Given the description of an element on the screen output the (x, y) to click on. 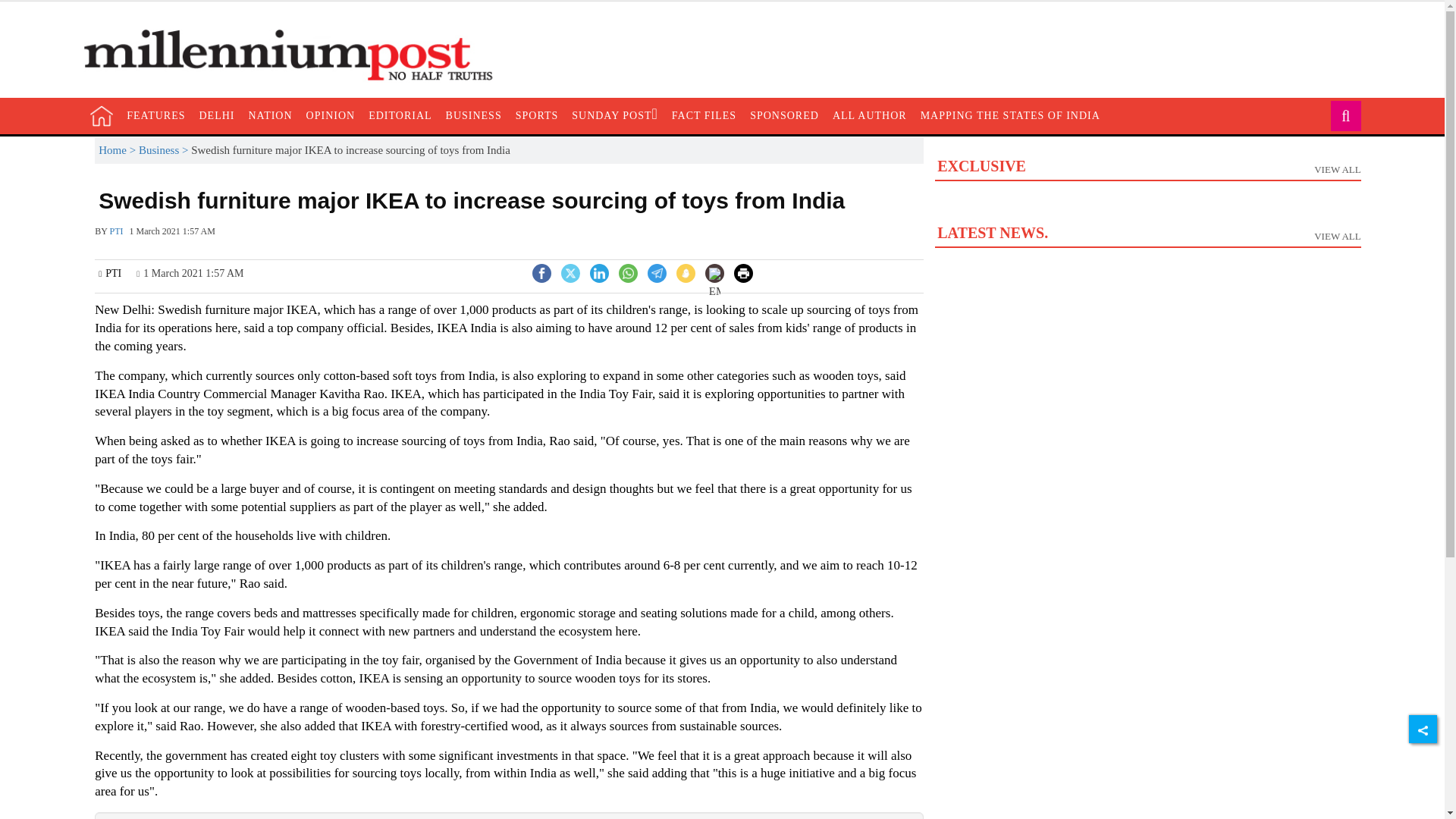
koo (685, 273)
MillenniumPost (295, 55)
OPINION (330, 115)
Facebook (541, 271)
whatsapp (628, 273)
MAPPING THE STATES OF INDIA (1010, 115)
twitter (570, 273)
FACT FILES (703, 115)
SUNDAY POST (614, 115)
ALL AUTHOR (869, 115)
